Given the description of an element on the screen output the (x, y) to click on. 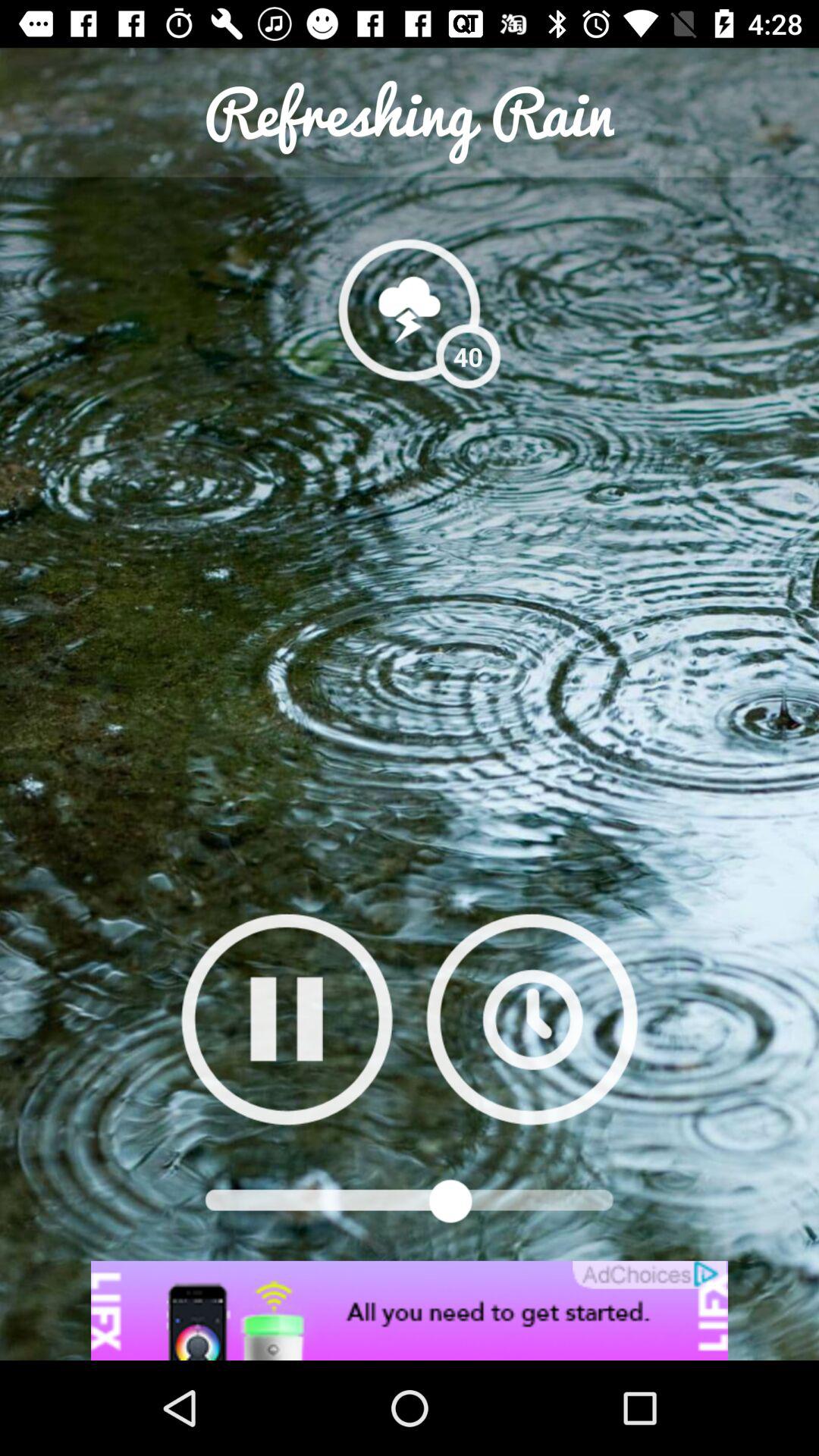
advertising bar (409, 1310)
